Given the description of an element on the screen output the (x, y) to click on. 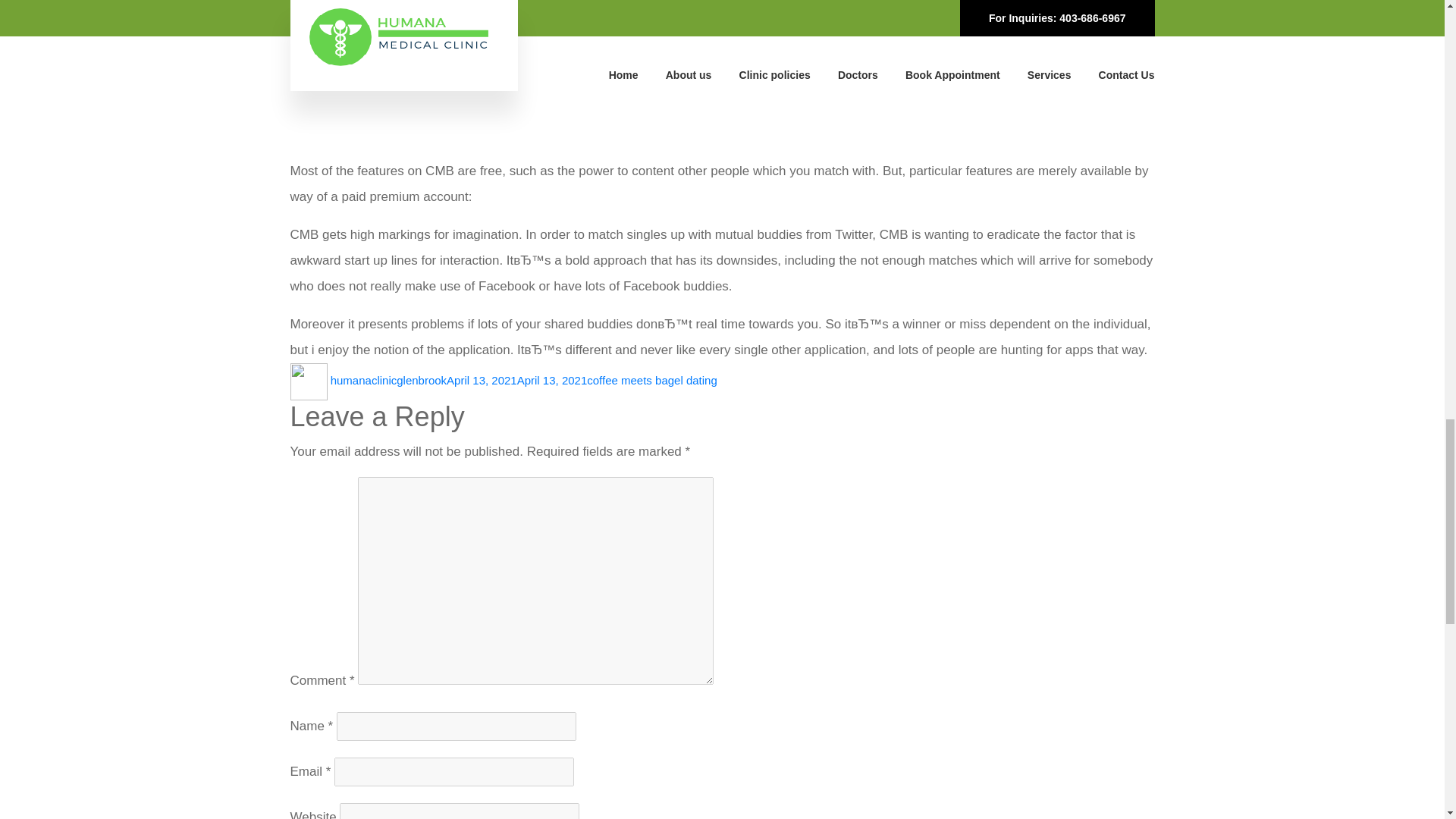
humanaclinicglenbrook (388, 379)
April 13, 2021April 13, 2021 (516, 379)
coffee meets bagel dating (651, 379)
